Given the description of an element on the screen output the (x, y) to click on. 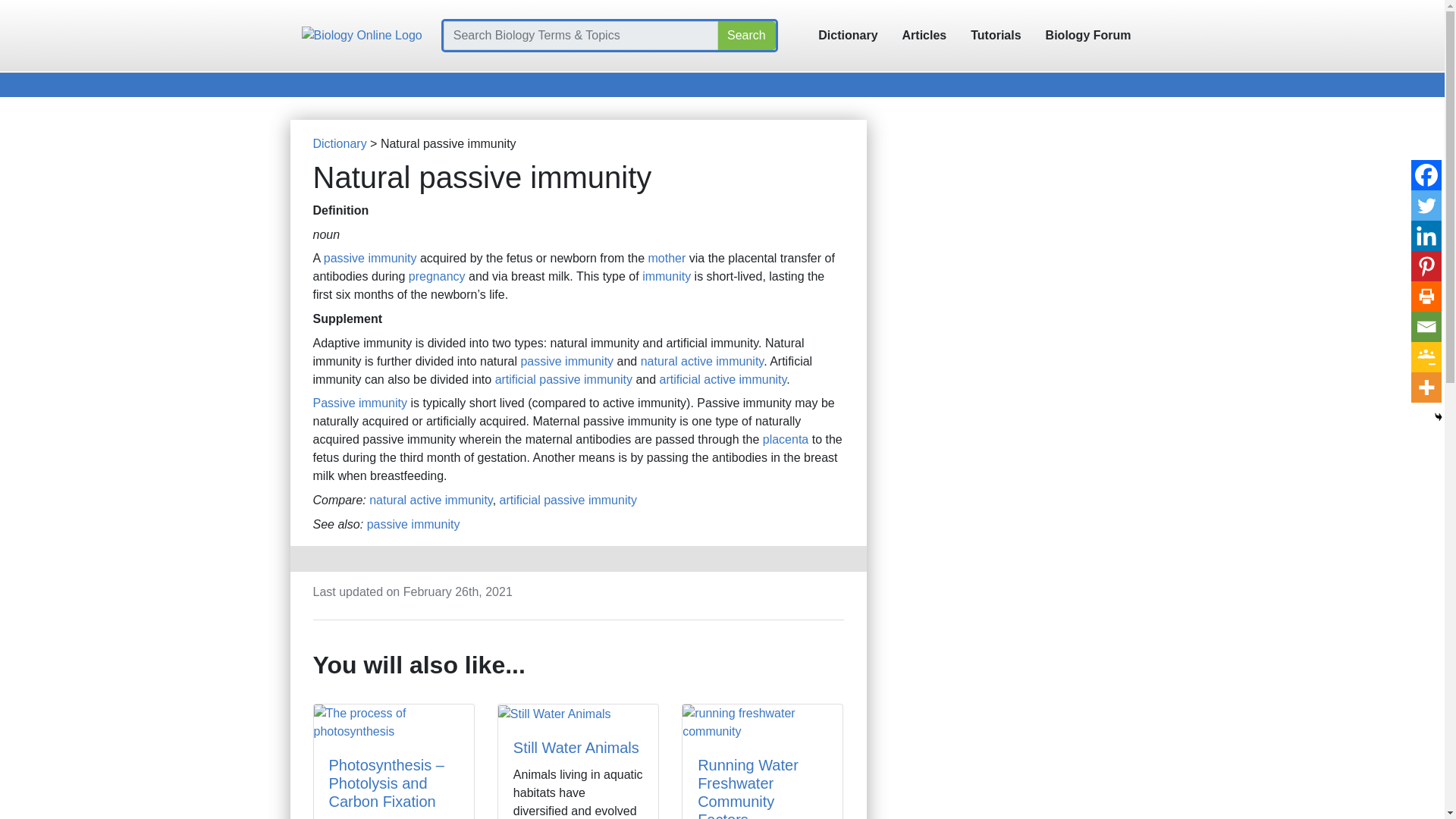
immunity (666, 276)
Articles (924, 35)
Articles (924, 35)
artificial passive immunity (568, 499)
Running Water Freshwater Community Factors (747, 787)
Twitter (1425, 205)
Biology Forum (1087, 35)
passive immunity (413, 523)
Biology Forum (1087, 35)
pregnancy (437, 276)
Passive immunity (359, 402)
Search (746, 35)
placenta (785, 439)
Facebook (1425, 174)
